Given the description of an element on the screen output the (x, y) to click on. 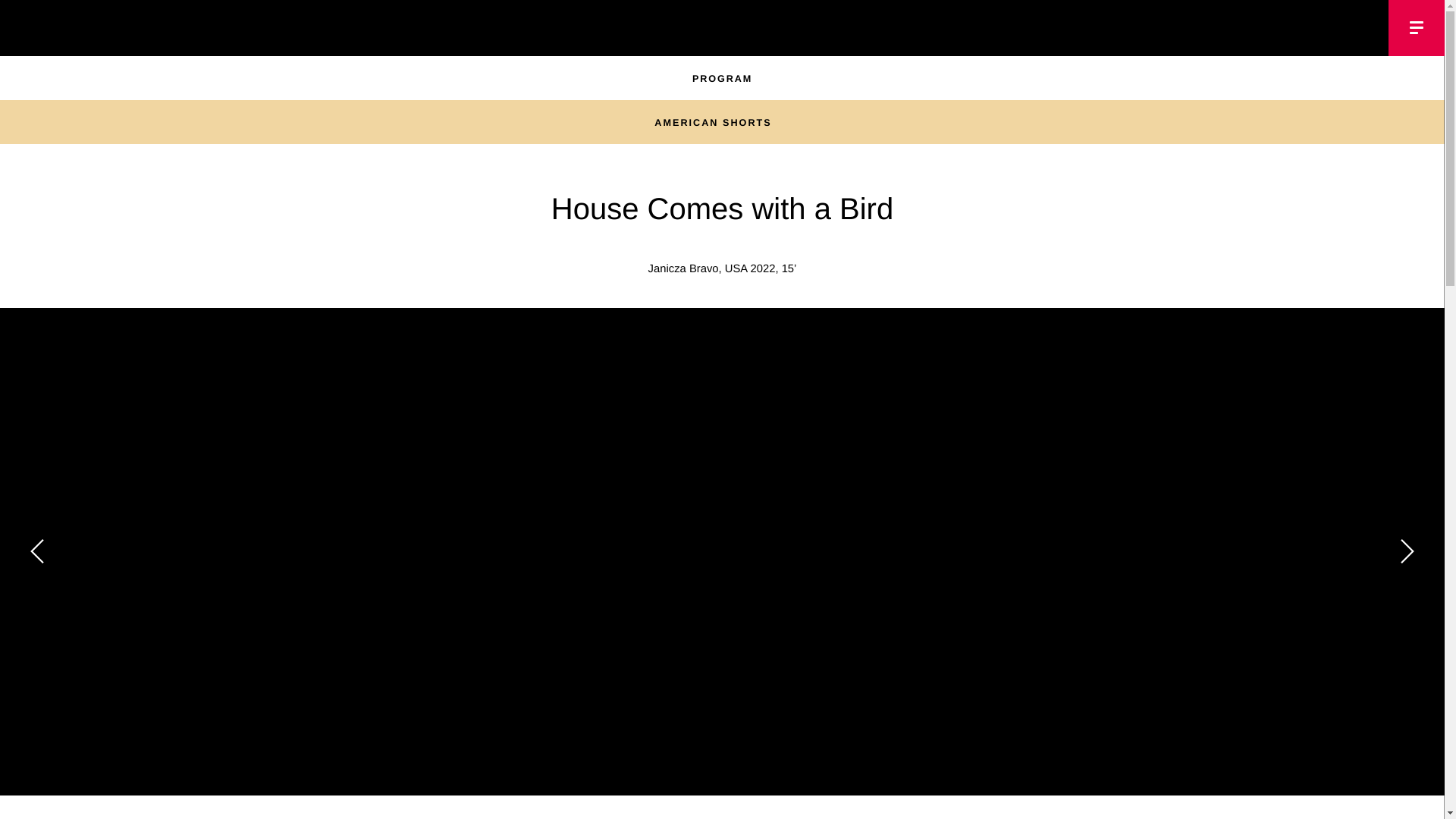
PROGRAM (722, 78)
OK (24, 23)
AMERICAN SHORTS (721, 122)
